Given the description of an element on the screen output the (x, y) to click on. 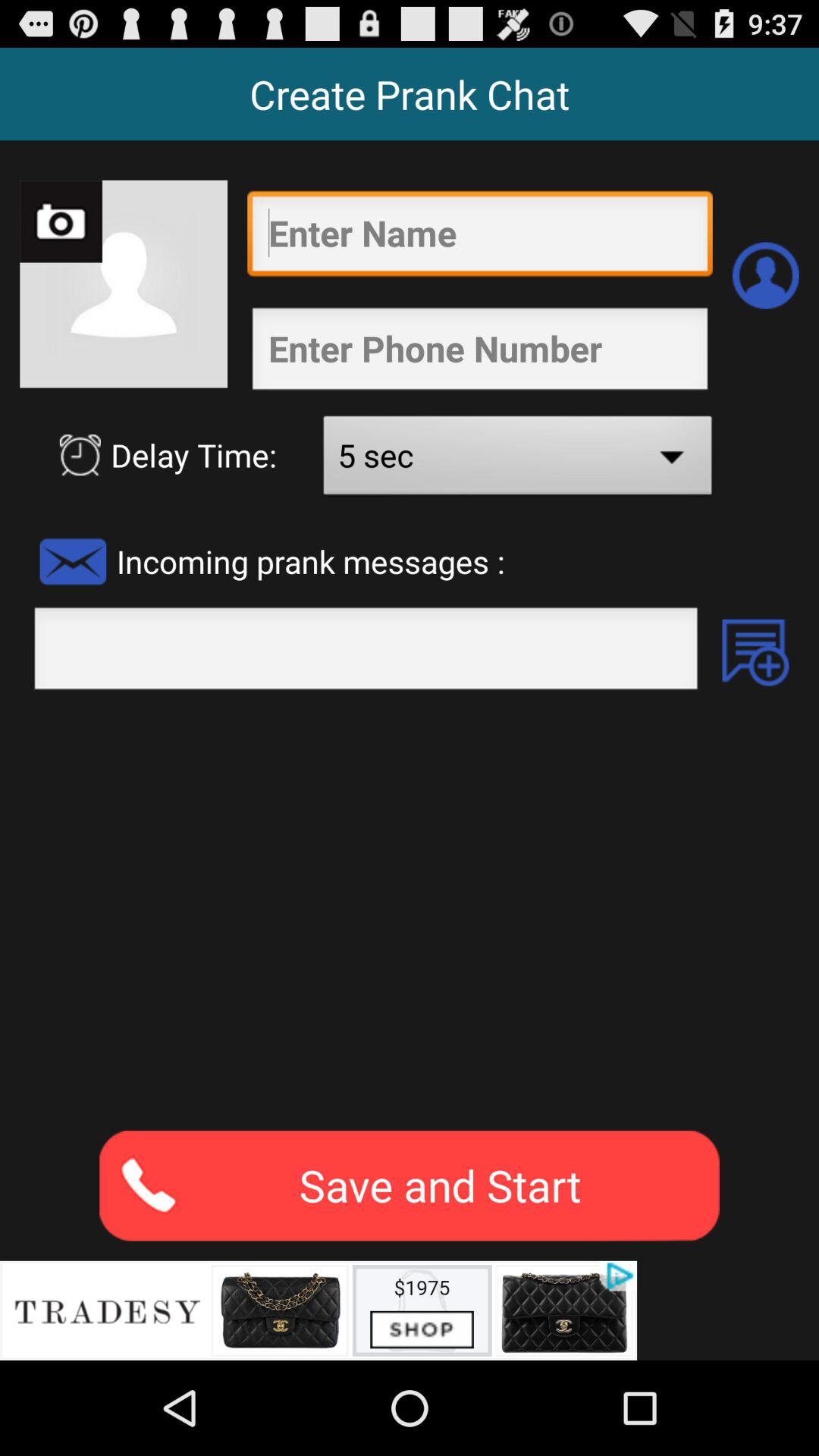
add contact (765, 275)
